Given the description of an element on the screen output the (x, y) to click on. 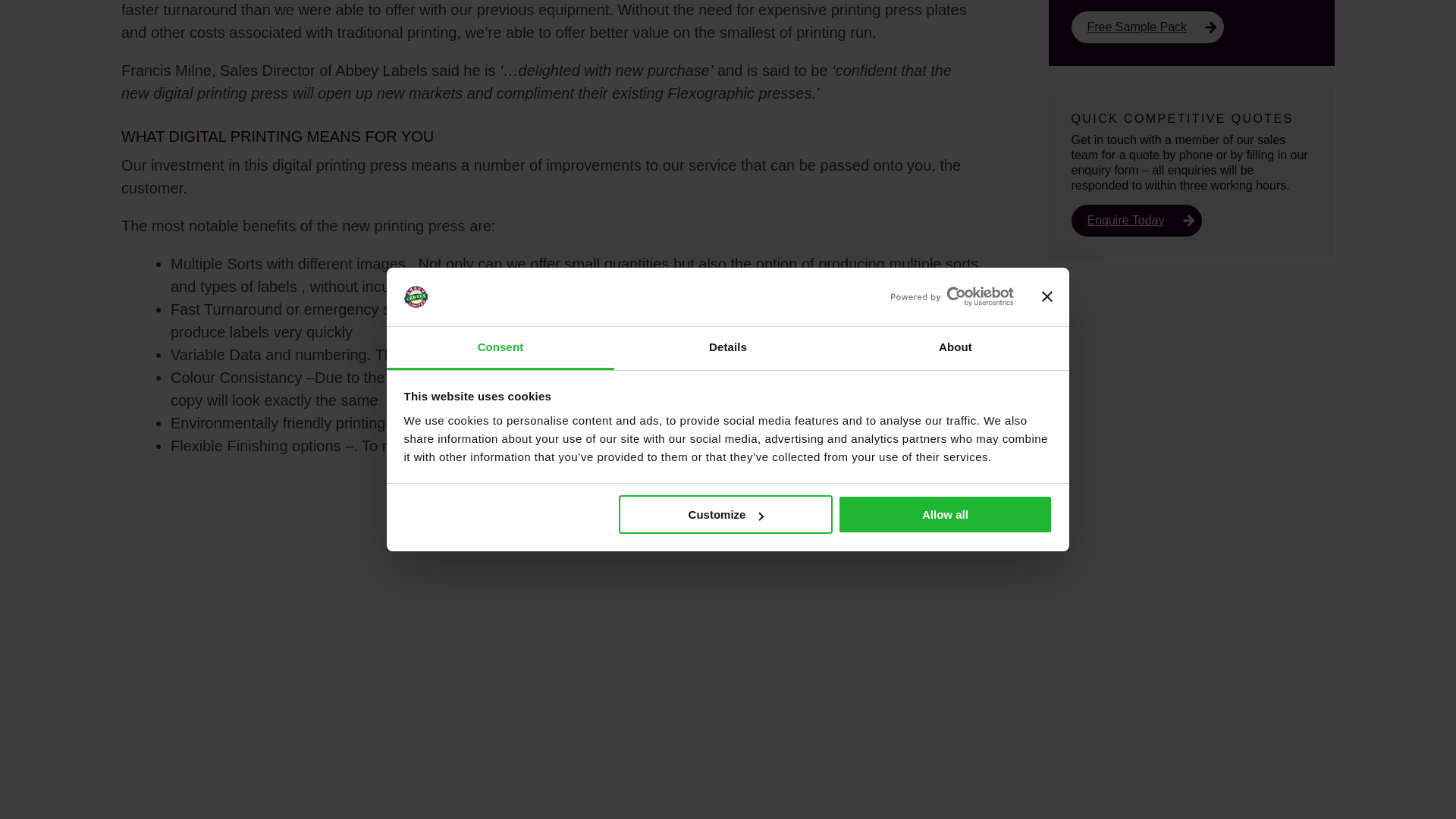
About (954, 2)
Details (727, 2)
Consent (500, 2)
